Given the description of an element on the screen output the (x, y) to click on. 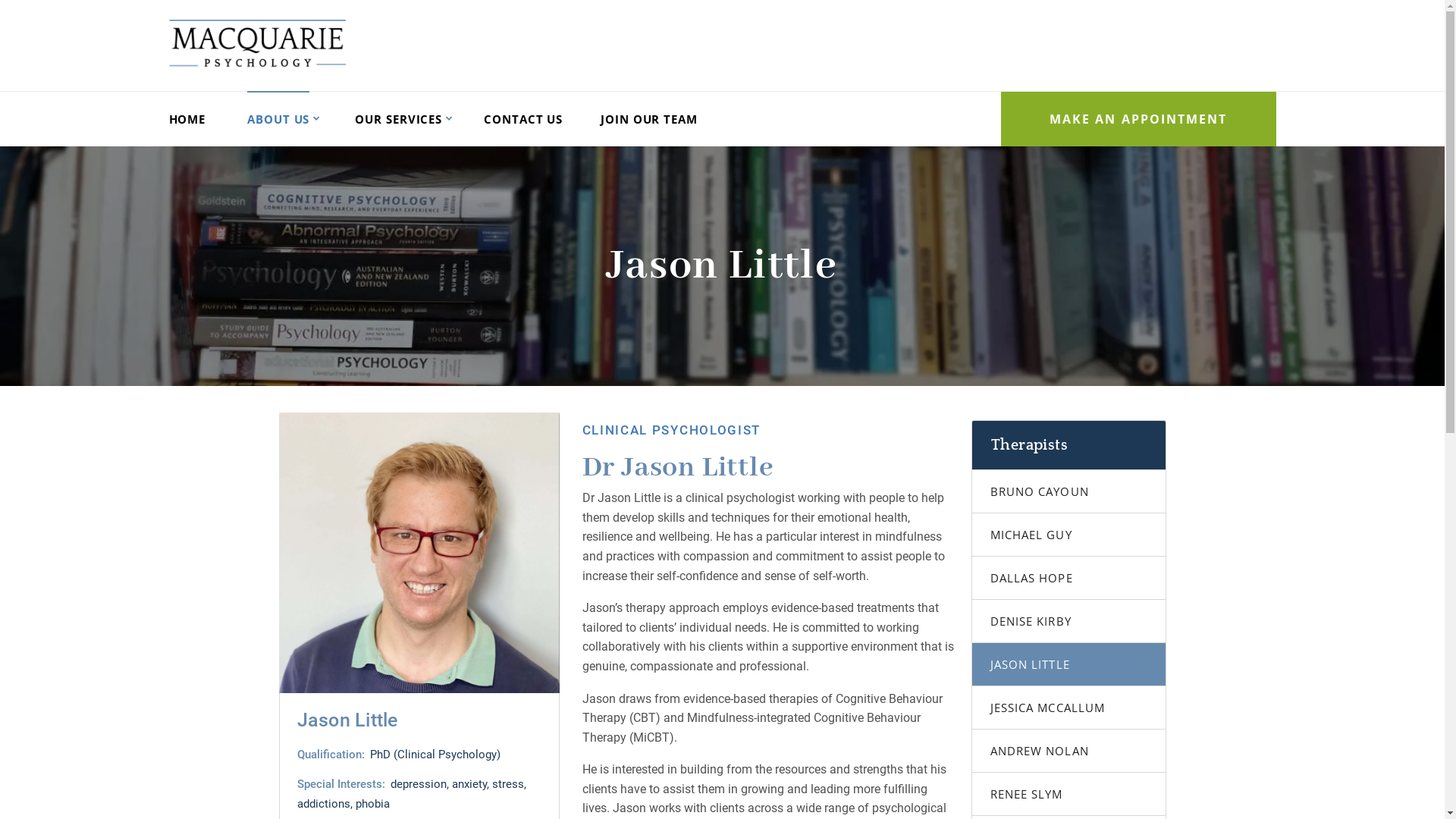
BRUNO CAYOUN Element type: text (1068, 491)
OUR SERVICES Element type: text (398, 118)
CONTACT US Element type: text (522, 118)
HOME Element type: text (186, 118)
DALLAS HOPE Element type: text (1068, 577)
JASON LITTLE Element type: text (1068, 664)
JOIN OUR TEAM Element type: text (648, 118)
Macquarie Psychology Element type: hover (256, 43)
ANDREW NOLAN Element type: text (1068, 750)
DENISE KIRBY Element type: text (1068, 621)
RENEE SLYM Element type: text (1068, 793)
JESSICA MCCALLUM Element type: text (1068, 707)
MAKE AN APPOINTMENT Element type: text (1138, 118)
MICHAEL GUY Element type: text (1068, 534)
ABOUT US Element type: text (278, 118)
